Given the description of an element on the screen output the (x, y) to click on. 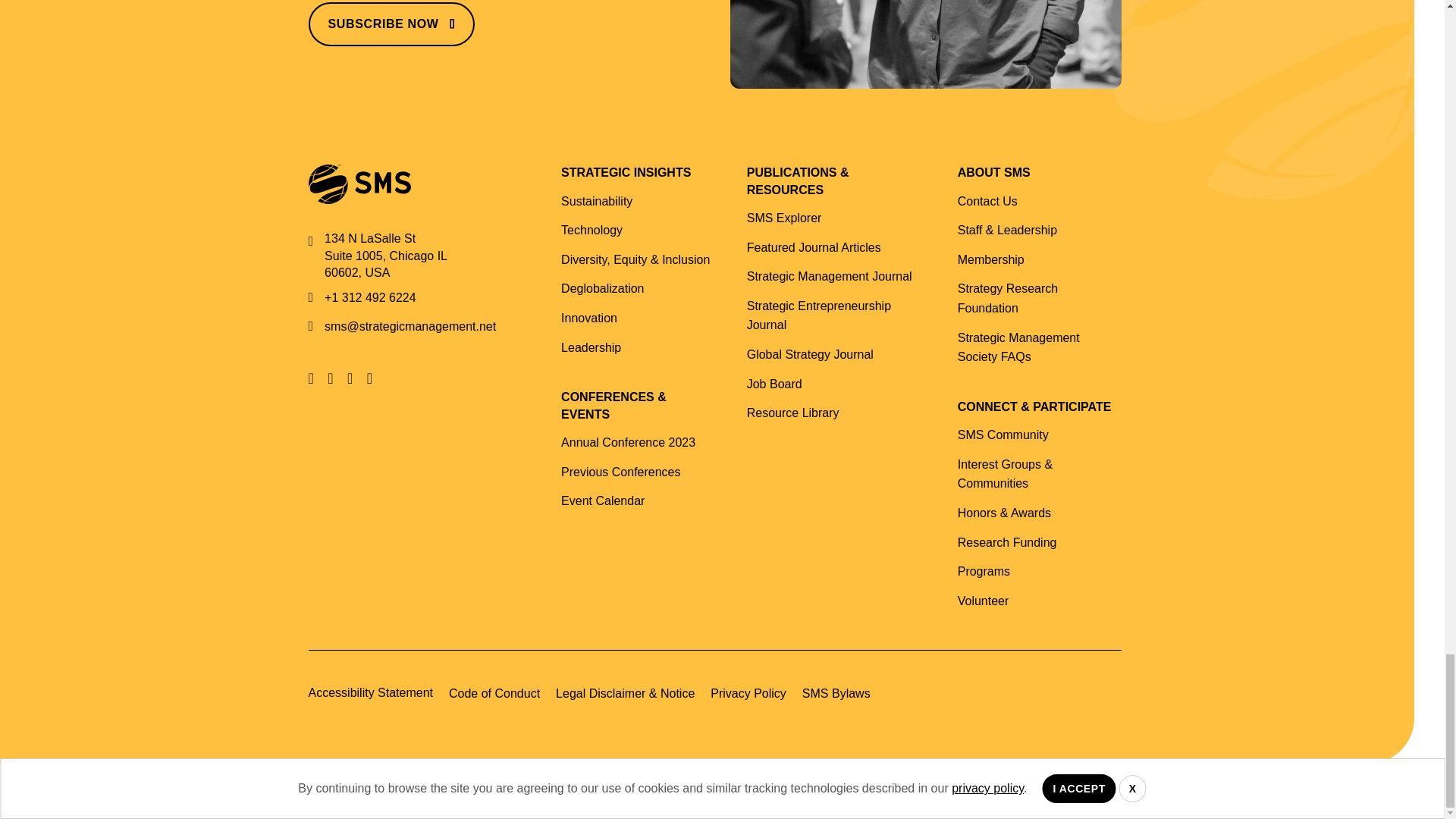
black-logo-sms (358, 183)
Global Footer SMS (925, 44)
